Given the description of an element on the screen output the (x, y) to click on. 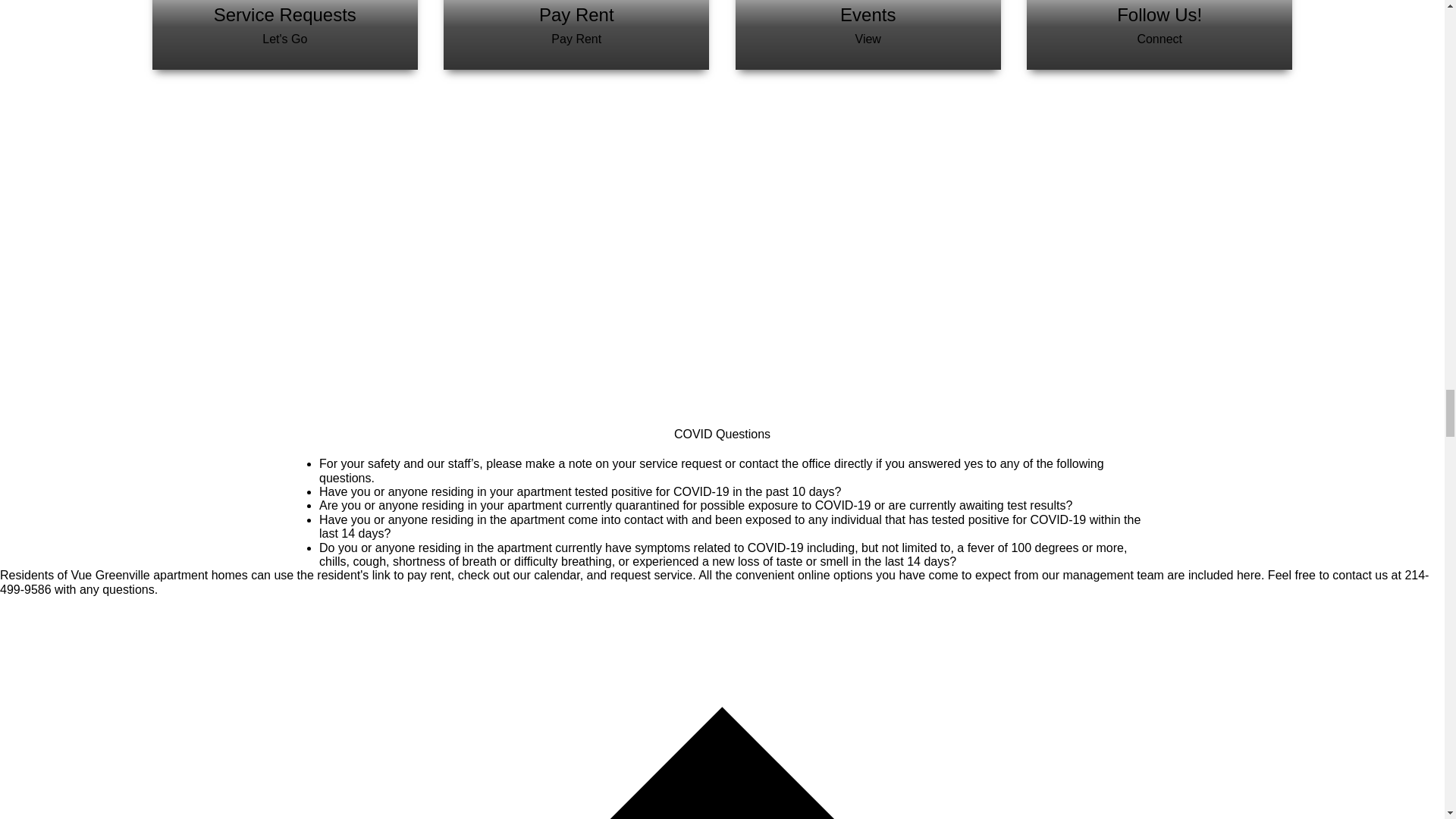
Connect (1159, 38)
Let's Go (284, 38)
Pay Rent (576, 38)
View (868, 38)
